Given the description of an element on the screen output the (x, y) to click on. 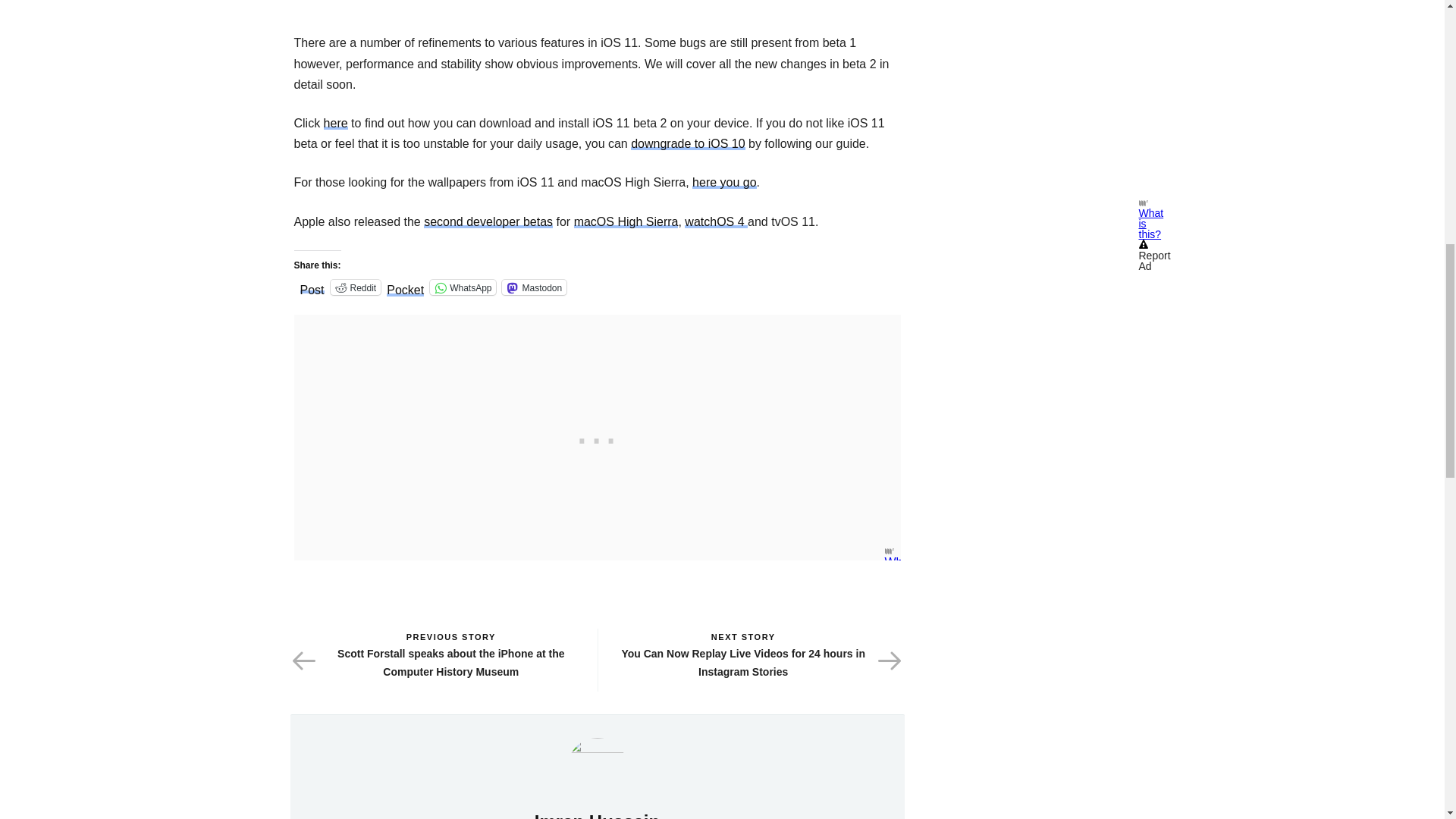
Click to share on Mastodon (534, 287)
Imran Hussain (597, 766)
3rd party ad content (597, 437)
Click to share on WhatsApp (462, 287)
Imran Hussain (596, 815)
Click to share on Reddit (355, 287)
